Given the description of an element on the screen output the (x, y) to click on. 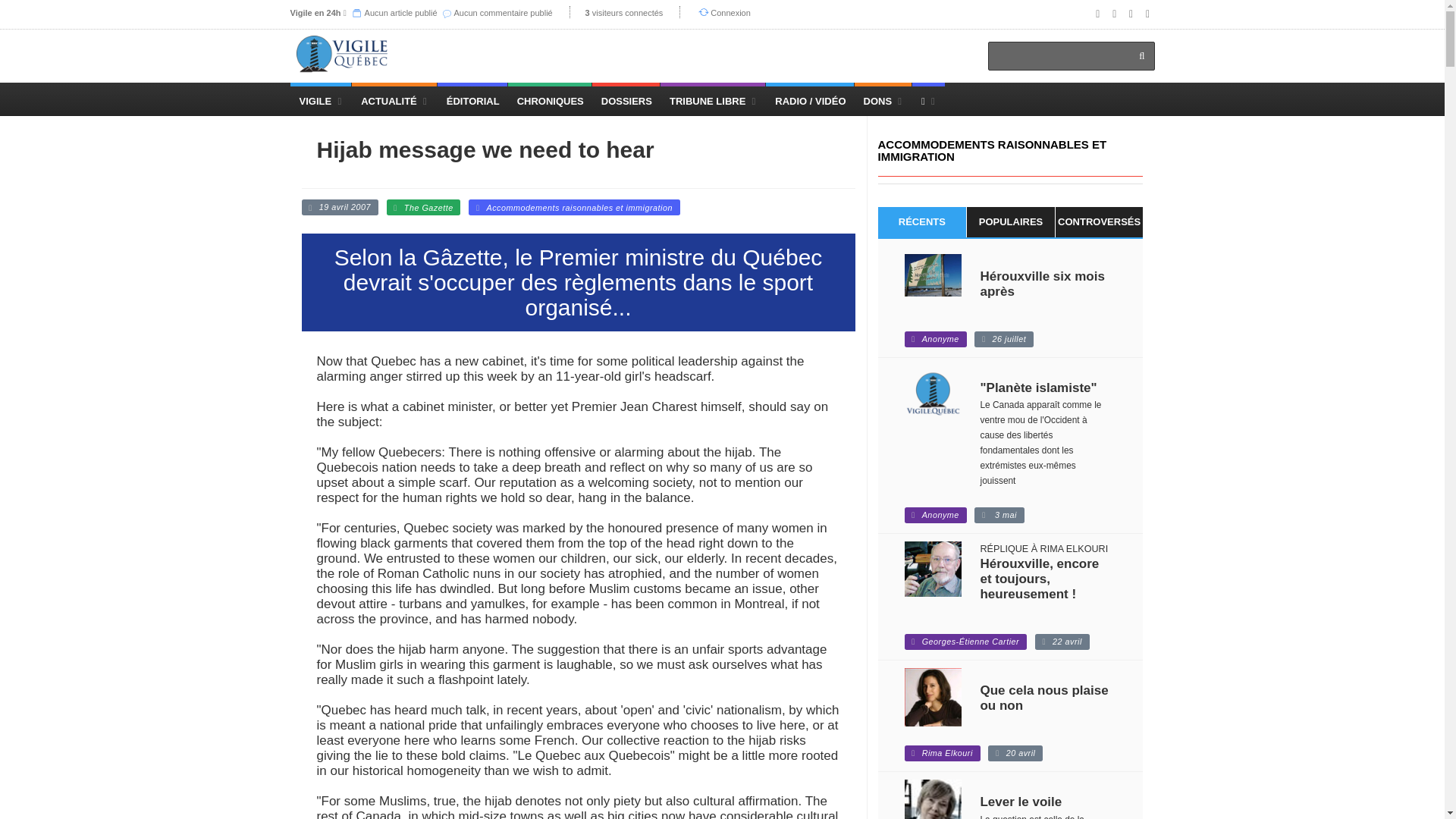
VIGILE (319, 98)
Vigile en 24h (314, 12)
Connexion (730, 12)
